Given the description of an element on the screen output the (x, y) to click on. 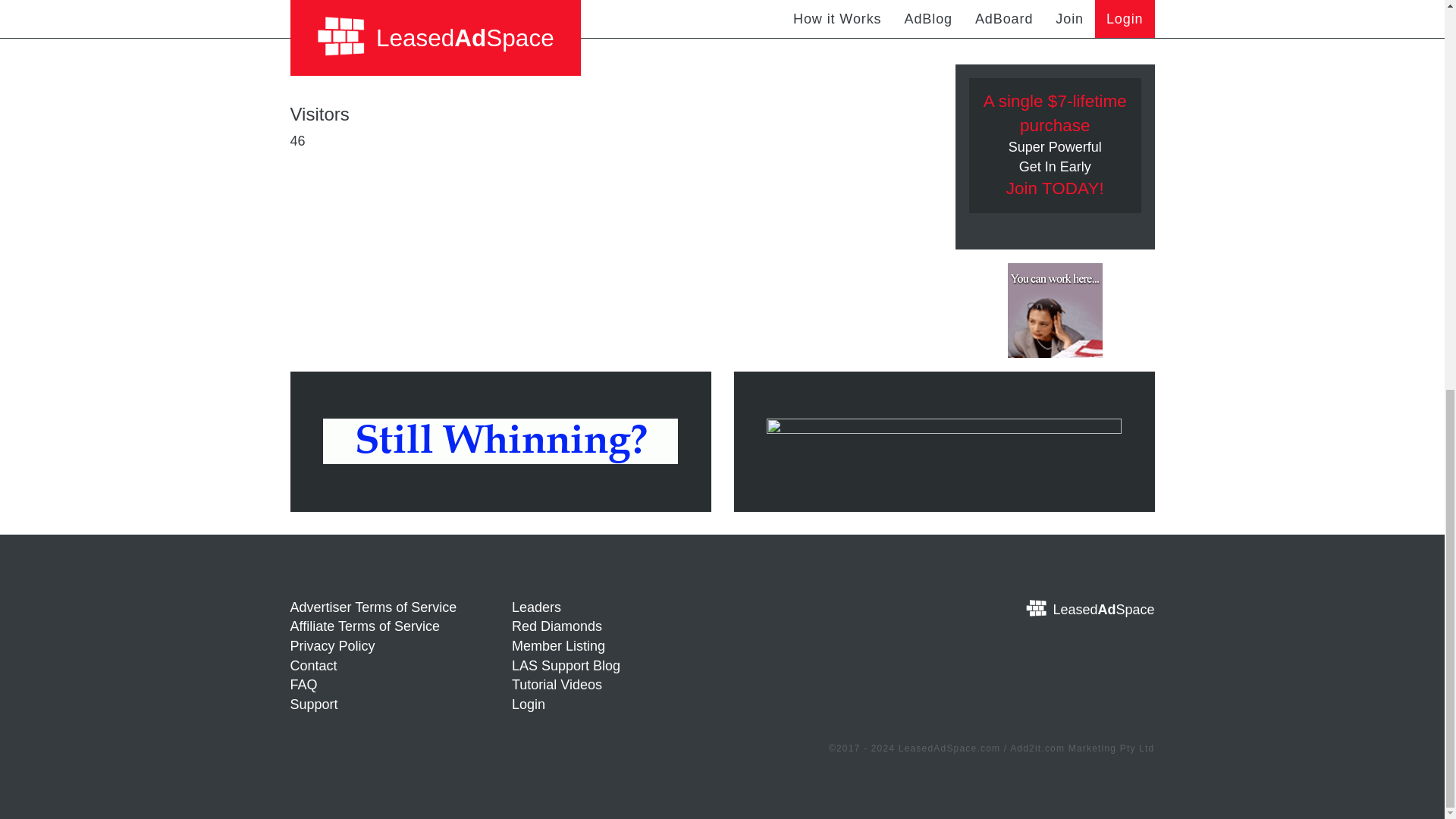
Affiliate Terms of Service (364, 626)
Red Diamonds (557, 626)
Tutorial Videos (557, 684)
LeasedAdSpace (1054, 608)
Contact (312, 665)
Advertiser Terms of Service (373, 607)
Login (528, 703)
Leaders (536, 607)
FAQ (303, 684)
Support (313, 703)
Privacy Policy (331, 645)
LAS Support Blog (566, 665)
Member Listing (558, 645)
